Given the description of an element on the screen output the (x, y) to click on. 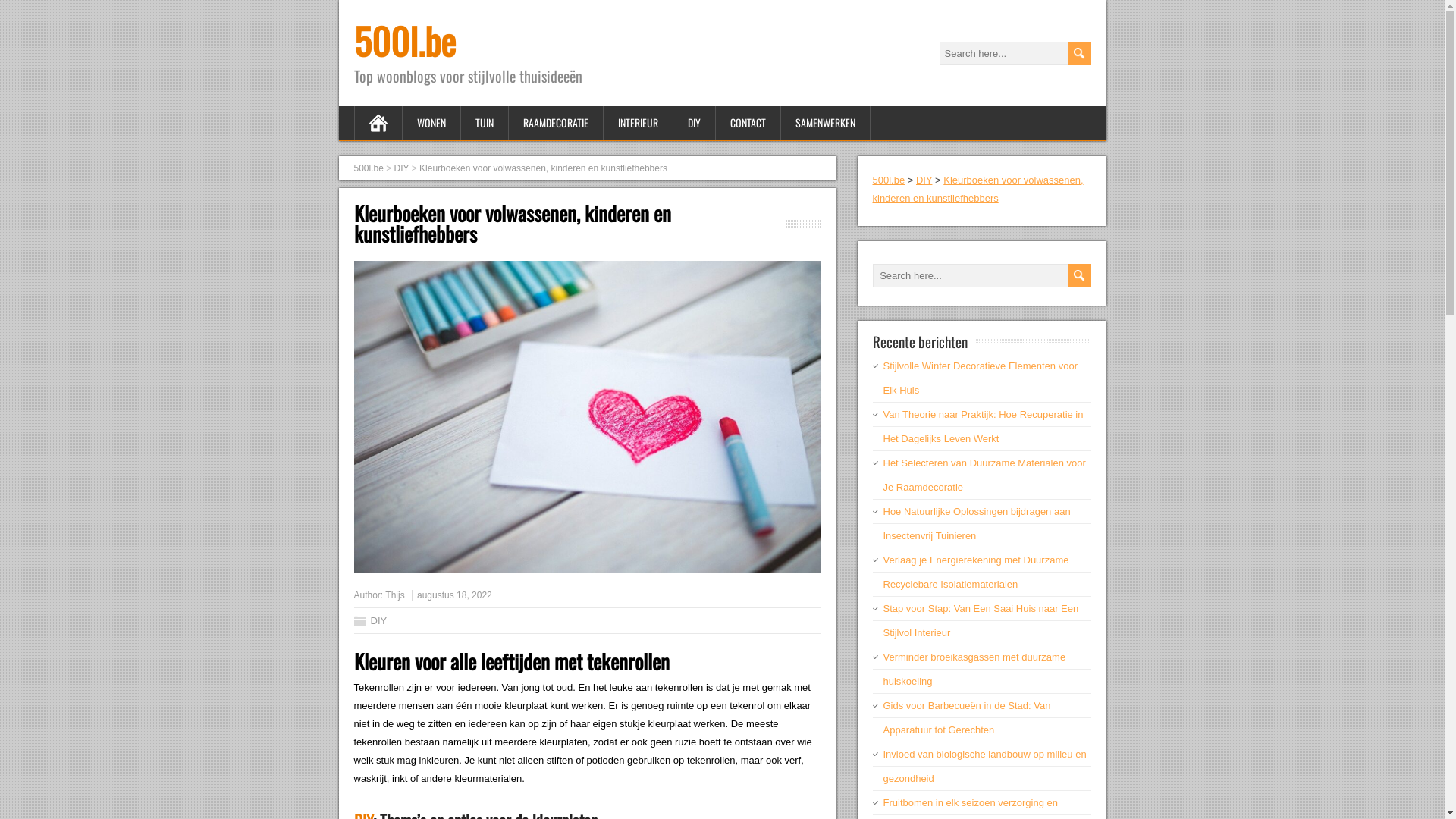
500l.be Element type: text (888, 179)
Stijlvolle Winter Decoratieve Elementen voor Elk Huis Element type: text (979, 377)
CONTACT Element type: text (748, 122)
TUIN Element type: text (484, 122)
DIY Element type: text (923, 179)
DIY Element type: text (694, 122)
500l.be Element type: text (367, 168)
SAMENWERKEN Element type: text (825, 122)
Invloed van biologische landbouw op milieu en gezondheid Element type: text (983, 766)
WONEN Element type: text (430, 122)
DIY Element type: text (378, 620)
INTERIEUR Element type: text (638, 122)
Kleurboeken voor volwassenen, kinderen en kunstliefhebbers Element type: text (977, 188)
500l.be Element type: text (404, 40)
Verminder broeikasgassen met duurzame huiskoeling Element type: text (973, 669)
Het Selecteren van Duurzame Materialen voor Je Raamdecoratie Element type: text (983, 474)
RAAMDECORATIE Element type: text (555, 122)
Kleurboeken voor volwassenen, kinderen en kunstliefhebbers Element type: text (543, 168)
DIY Element type: text (401, 168)
Thijs Element type: text (394, 594)
